Given the description of an element on the screen output the (x, y) to click on. 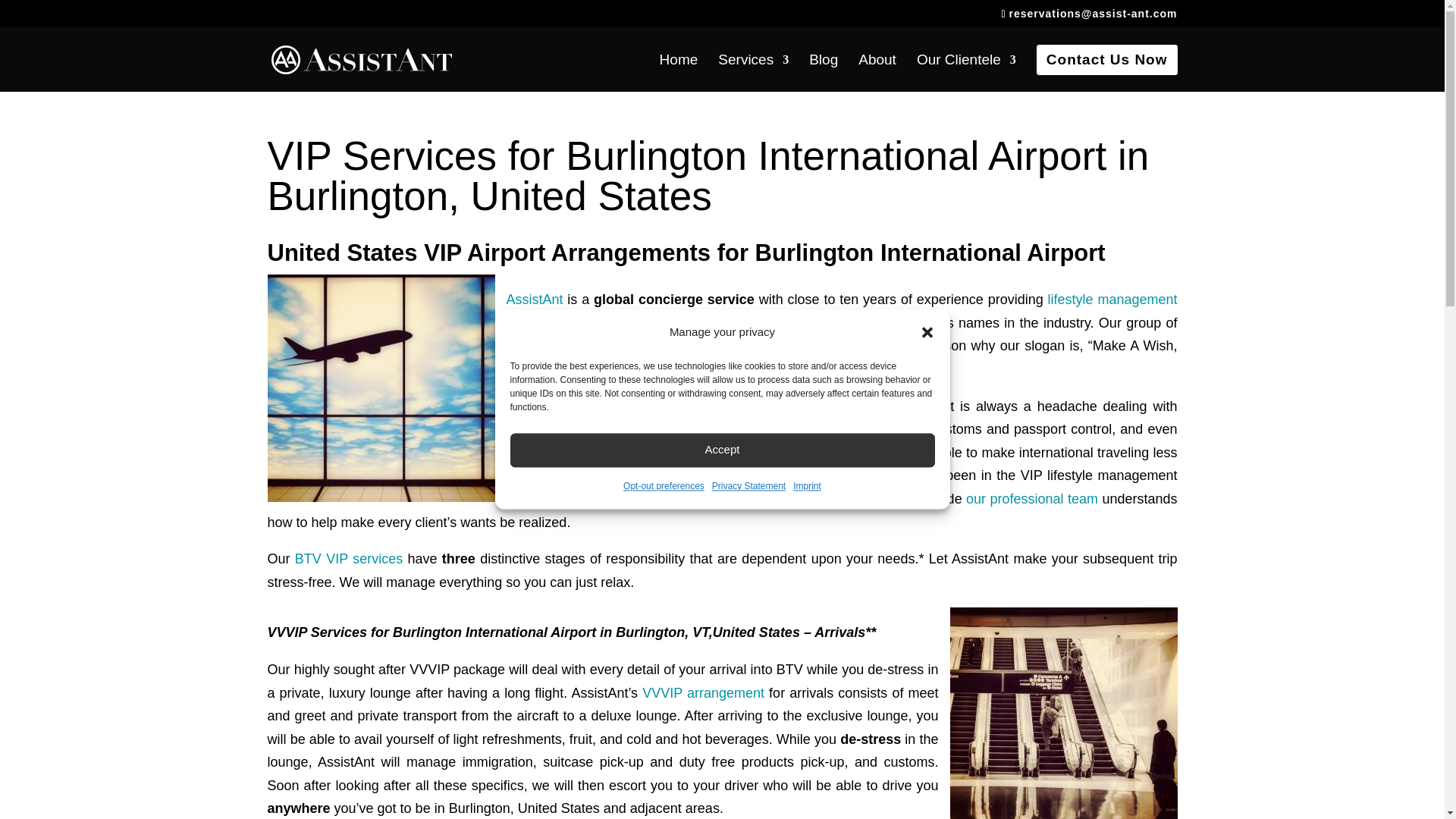
Burlington International Airport (684, 498)
Home (678, 72)
Imprint (807, 486)
International VVVIP Airport Service (703, 693)
Accept (721, 449)
Services (753, 72)
AssistAnt Global Concierge Service (534, 299)
Privacy Statement (748, 486)
About Us (1034, 498)
Luxury Airport VIP Services (349, 558)
Opt-out preferences (663, 486)
